Given the description of an element on the screen output the (x, y) to click on. 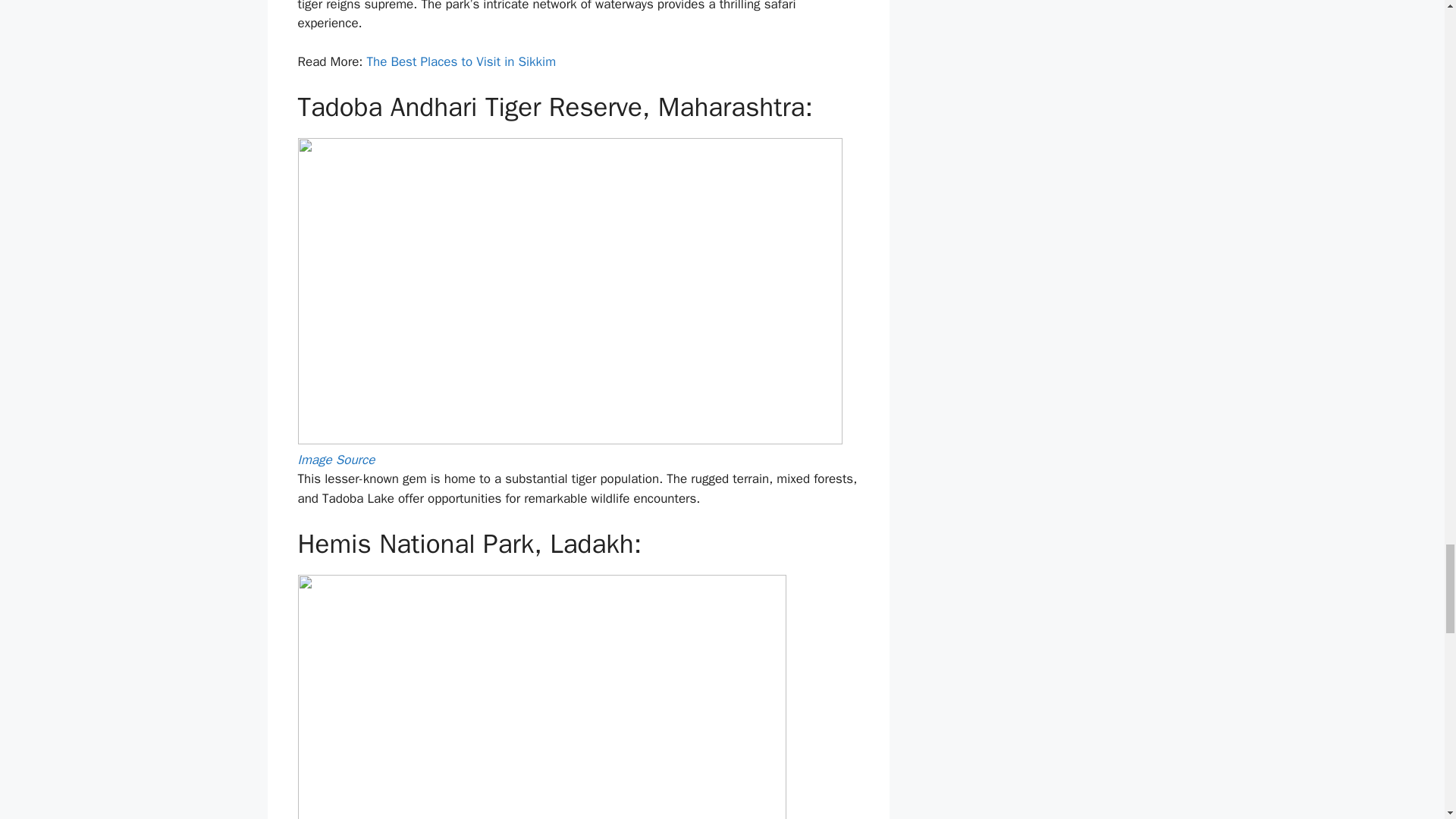
The Best Places to Visit in Sikkim (461, 61)
Image Source (335, 459)
